Given the description of an element on the screen output the (x, y) to click on. 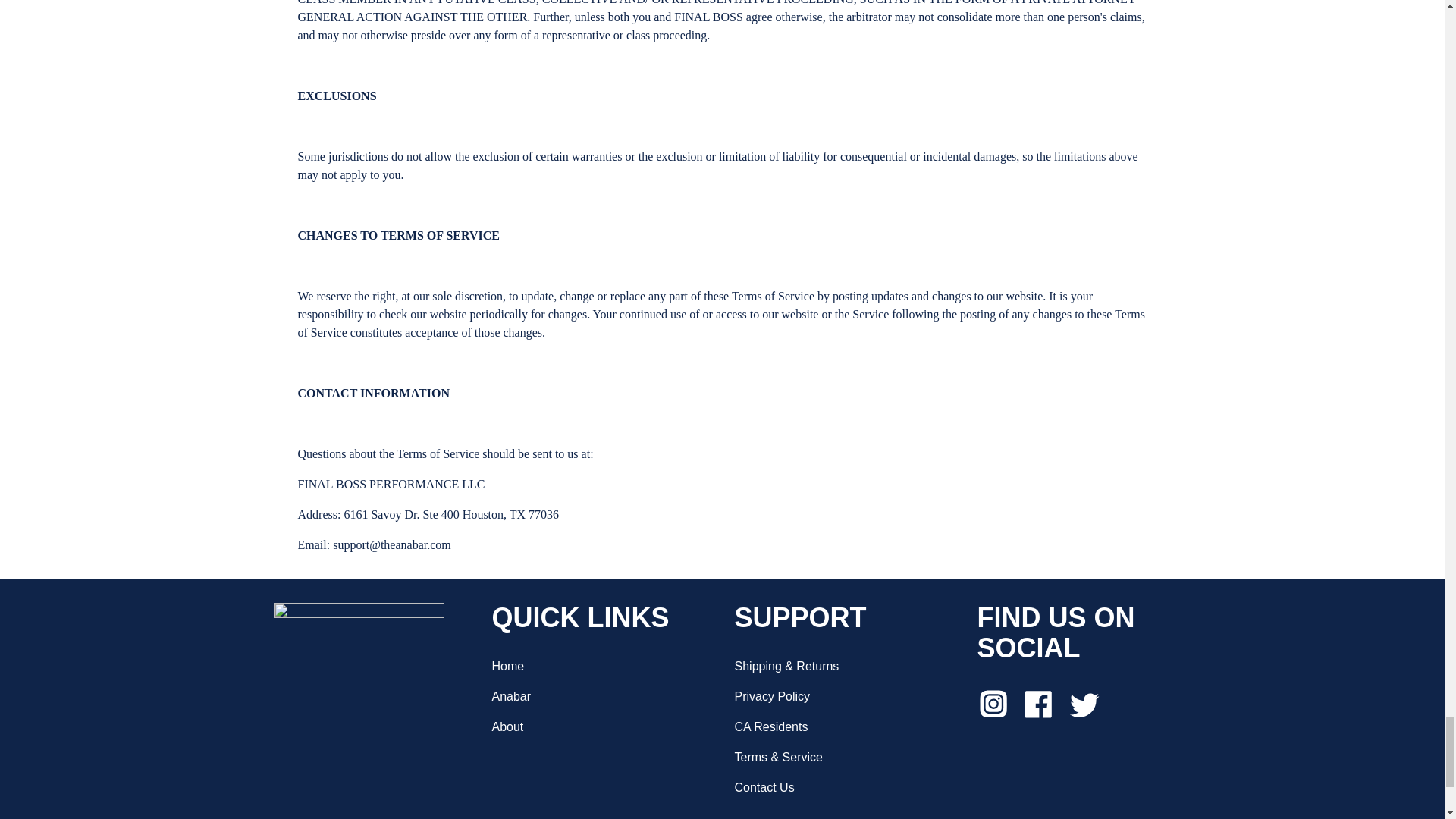
CA Residents (770, 726)
Privacy Policy (771, 696)
Contact Us (763, 787)
Anabar (511, 696)
Home (508, 666)
About (507, 726)
